Given the description of an element on the screen output the (x, y) to click on. 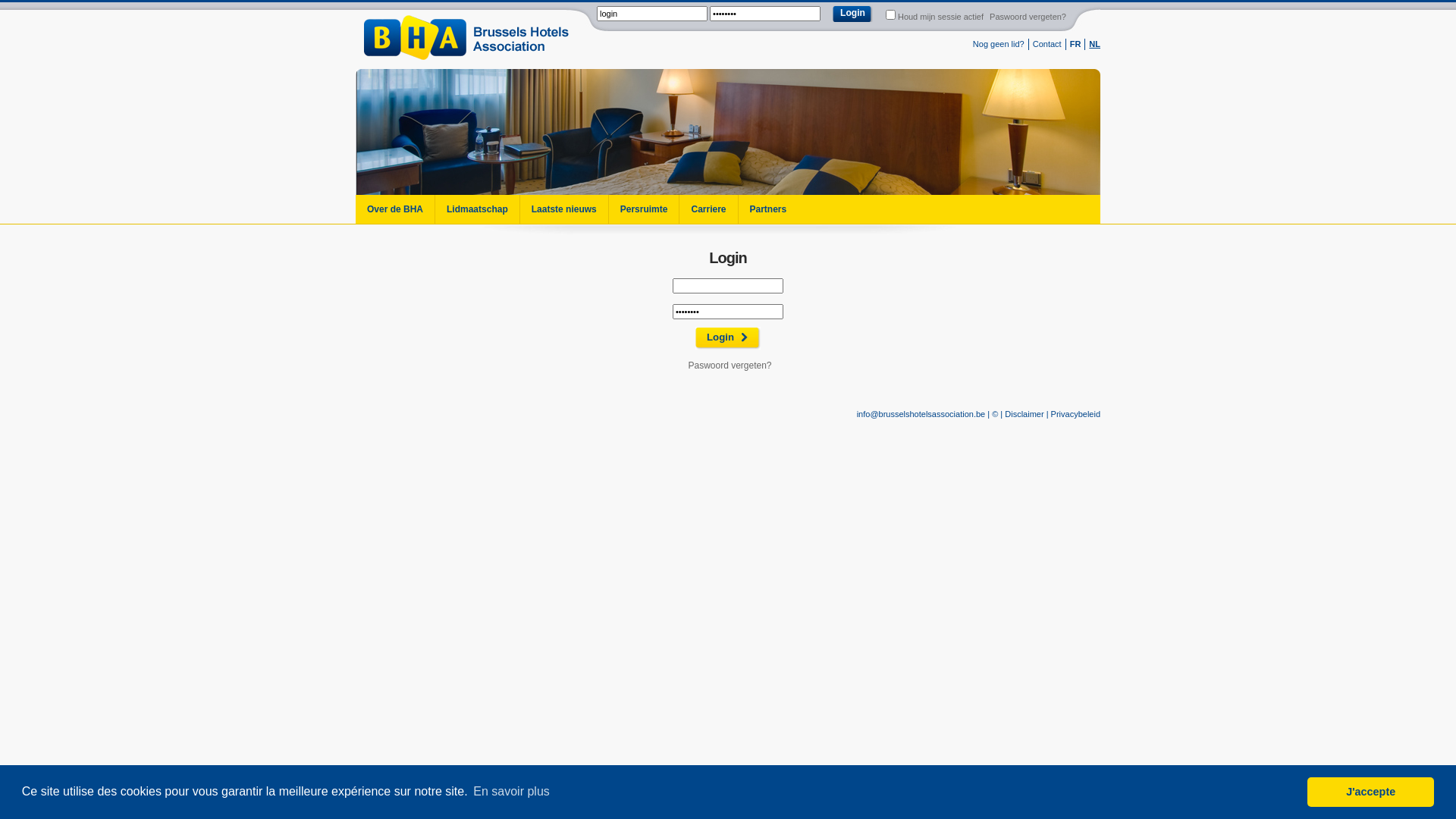
NL Element type: text (1094, 43)
Privacybeleid Element type: text (1075, 413)
J'accepte Element type: text (1370, 791)
En savoir plus Element type: text (511, 791)
FR Element type: text (1075, 43)
Over de BHA Element type: text (394, 208)
info@brusselshotelsassociation.be Element type: text (920, 413)
Persruimte Element type: text (643, 208)
Paswoord vergeten? Element type: text (1027, 16)
Login Element type: text (727, 337)
Lidmaatschap Element type: text (476, 208)
Carriere Element type: text (707, 208)
Login Element type: text (852, 13)
Partners Element type: text (767, 208)
Disclaimer Element type: text (1023, 413)
Nog geen lid? Element type: text (998, 43)
Laatste nieuws Element type: text (563, 208)
Contact Element type: text (1046, 43)
Paswoord vergeten? Element type: text (729, 365)
